Given the description of an element on the screen output the (x, y) to click on. 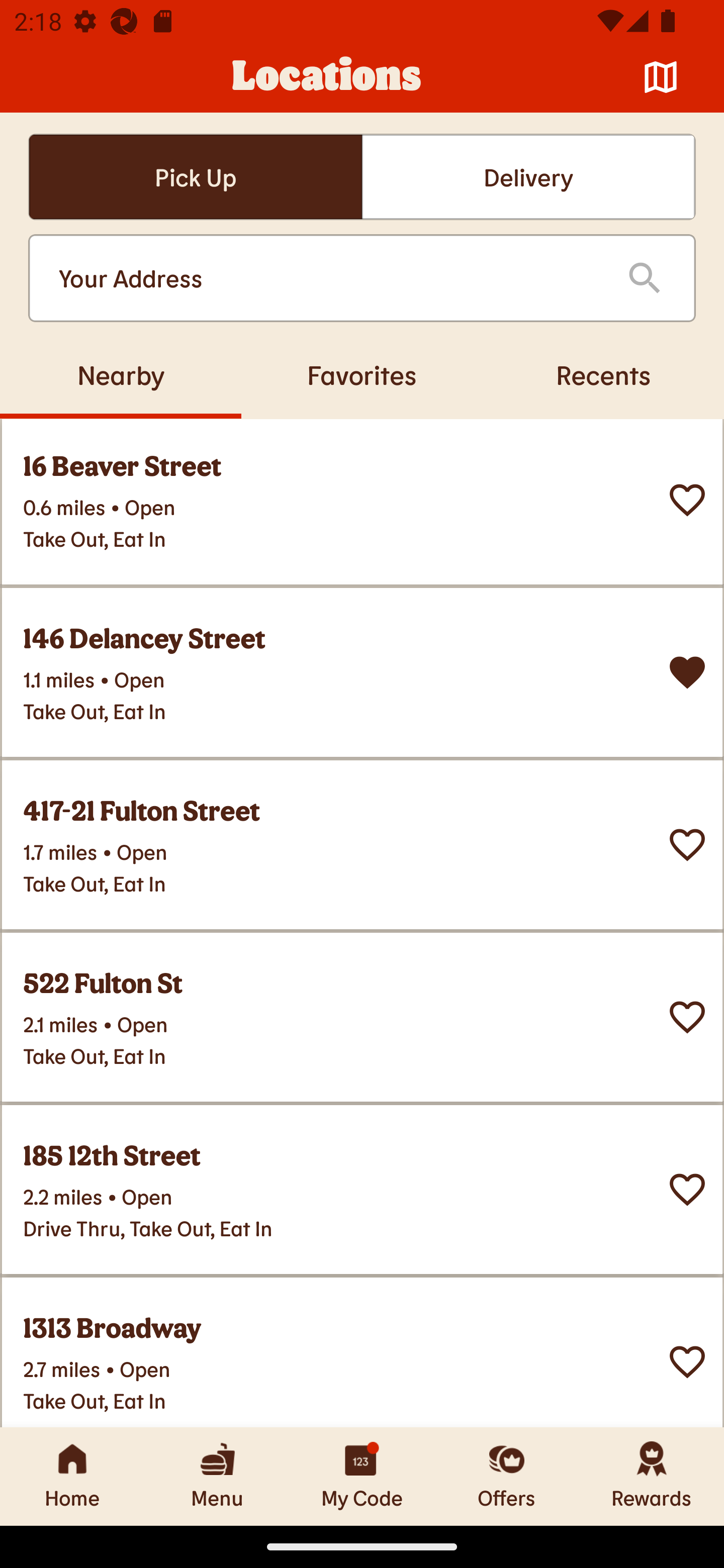
Map 󰦂 (660, 77)
Locations (326, 77)
Pick UpSelected Pick UpSelected Pick Up (195, 176)
Delivery Delivery Delivery (528, 176)
Your Address (327, 277)
Nearby (120, 374)
Favorites (361, 374)
Recents (603, 374)
Set this restaurant as a favorite  (687, 499)
Remove from Favorites?  (687, 671)
Set this restaurant as a favorite  (687, 844)
Set this restaurant as a favorite  (687, 1016)
Set this restaurant as a favorite  (687, 1189)
Set this restaurant as a favorite  (687, 1361)
Home (72, 1475)
Menu (216, 1475)
My Code (361, 1475)
Offers (506, 1475)
Rewards (651, 1475)
